Given the description of an element on the screen output the (x, y) to click on. 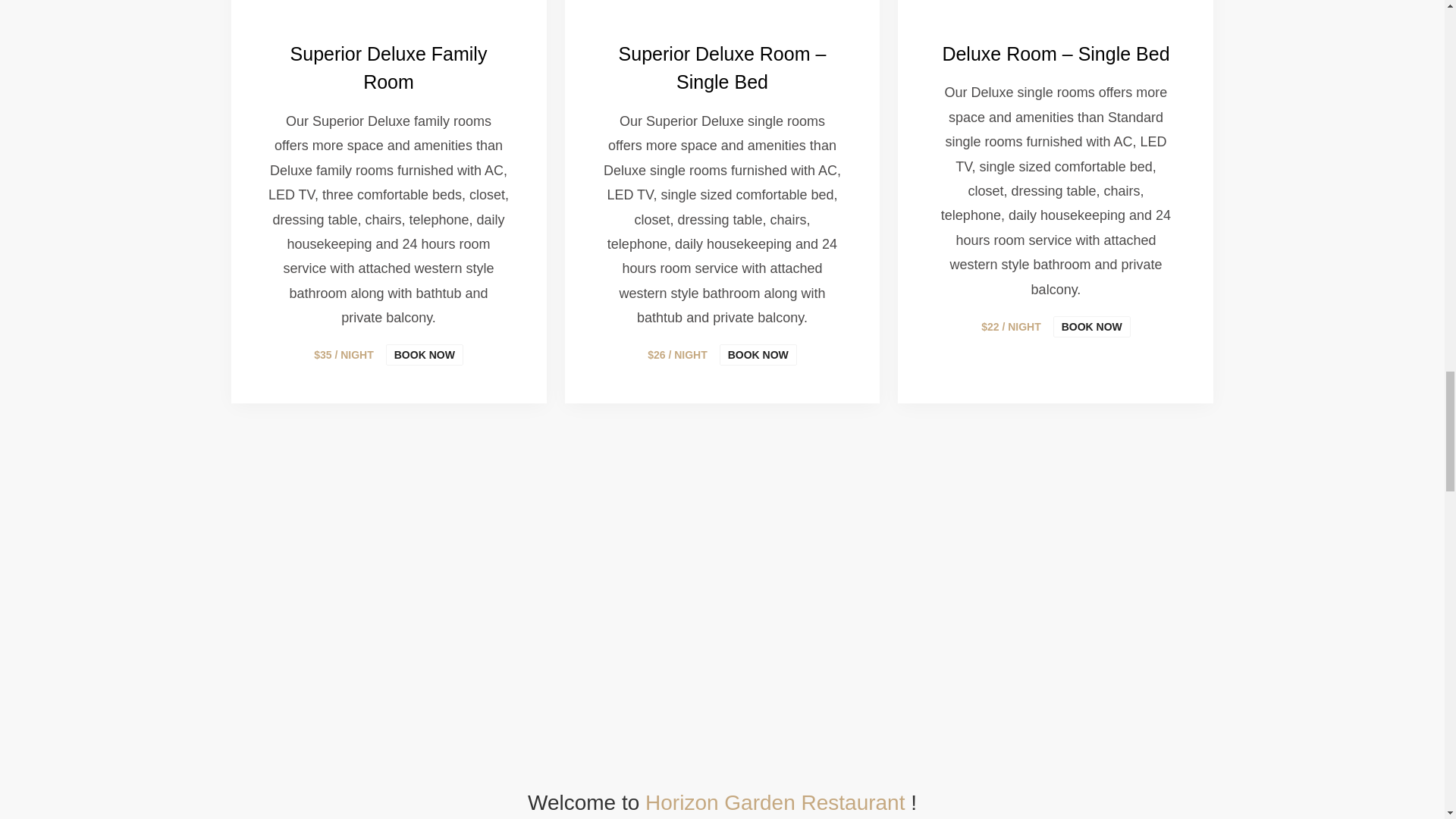
Superior Deluxe Family Room (388, 68)
Horizon Garden Restaurant (778, 802)
BOOK NOW (1091, 326)
BOOK NOW (424, 354)
BOOK NOW (757, 354)
